Given the description of an element on the screen output the (x, y) to click on. 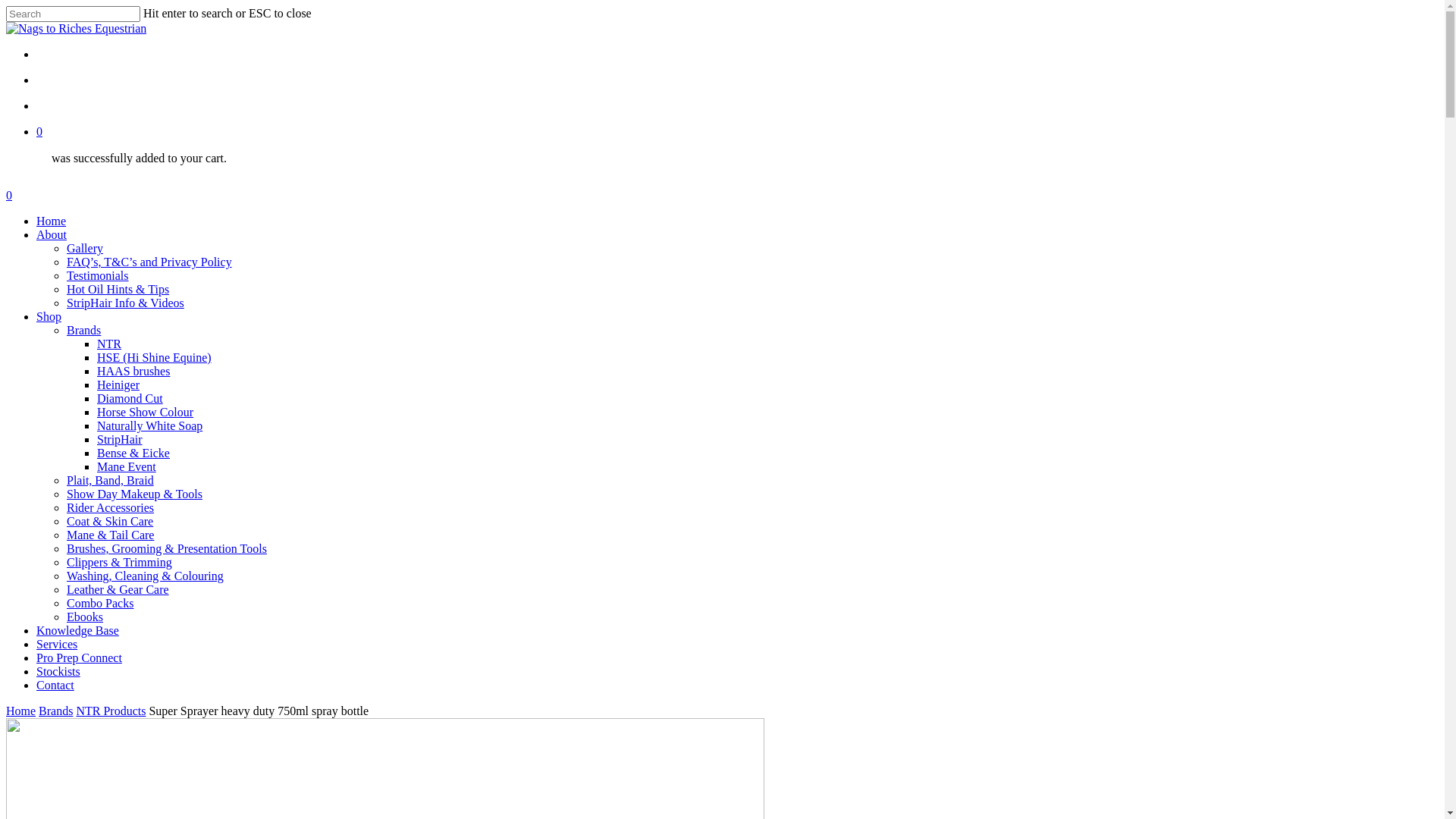
Shop Element type: text (48, 316)
Contact Element type: text (55, 684)
Plait, Band, Braid Element type: text (109, 479)
Combo Packs Element type: text (99, 602)
Leather & Gear Care Element type: text (117, 589)
Home Element type: text (50, 220)
About Element type: text (51, 234)
Knowledge Base Element type: text (77, 630)
Home Element type: text (20, 710)
Skip to main content Element type: text (5, 5)
Mane Event Element type: text (126, 466)
Show Day Makeup & Tools Element type: text (134, 493)
Coat & Skin Care Element type: text (109, 520)
Brushes, Grooming & Presentation Tools Element type: text (166, 548)
Horse Show Colour Element type: text (145, 411)
Washing, Cleaning & Colouring Element type: text (144, 575)
Stockists Element type: text (58, 671)
HAAS brushes Element type: text (133, 370)
0 Element type: text (722, 195)
Heiniger Element type: text (118, 384)
Brands Element type: text (83, 329)
NTR Element type: text (109, 343)
Gallery Element type: text (84, 247)
Pro Prep Connect Element type: text (79, 657)
HSE (Hi Shine Equine) Element type: text (154, 357)
Brands Element type: text (55, 710)
Naturally White Soap Element type: text (149, 425)
0 Element type: text (737, 131)
Services Element type: text (56, 643)
Diamond Cut Element type: text (130, 398)
Mane & Tail Care Element type: text (109, 534)
StripHair Element type: text (119, 439)
NTR Products Element type: text (110, 710)
Testimonials Element type: text (97, 275)
Ebooks Element type: text (84, 616)
Rider Accessories Element type: text (109, 507)
Bense & Eicke Element type: text (133, 452)
Hot Oil Hints & Tips Element type: text (117, 288)
Clippers & Trimming Element type: text (119, 561)
StripHair Info & Videos Element type: text (125, 302)
